Given the description of an element on the screen output the (x, y) to click on. 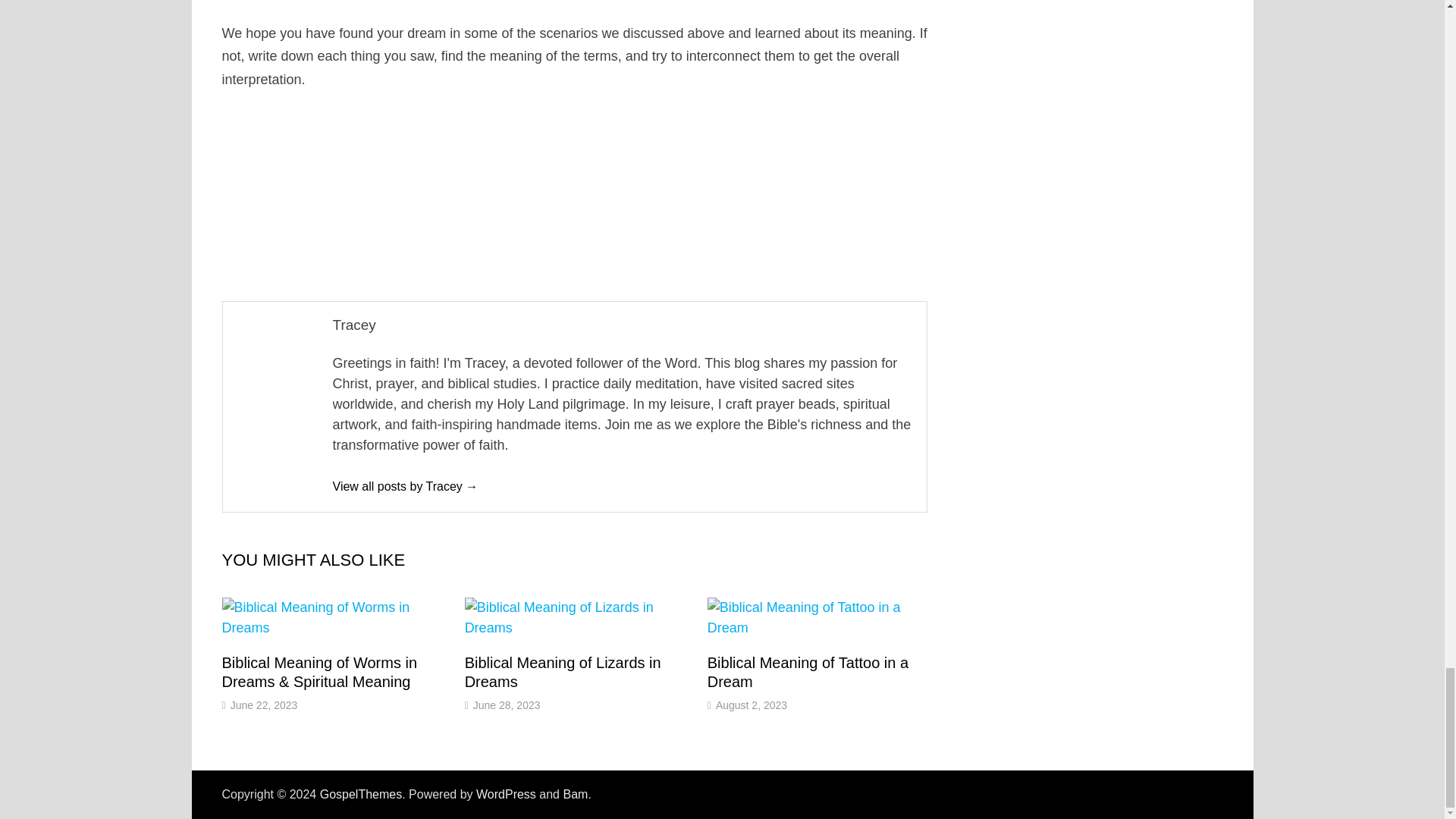
GospelThemes (361, 793)
Biblical Meaning of Lizards in Dreams (562, 672)
Biblical Meaning of Tattoo in a Dream (807, 672)
Tracey (404, 486)
June 22, 2023 (264, 705)
